Given the description of an element on the screen output the (x, y) to click on. 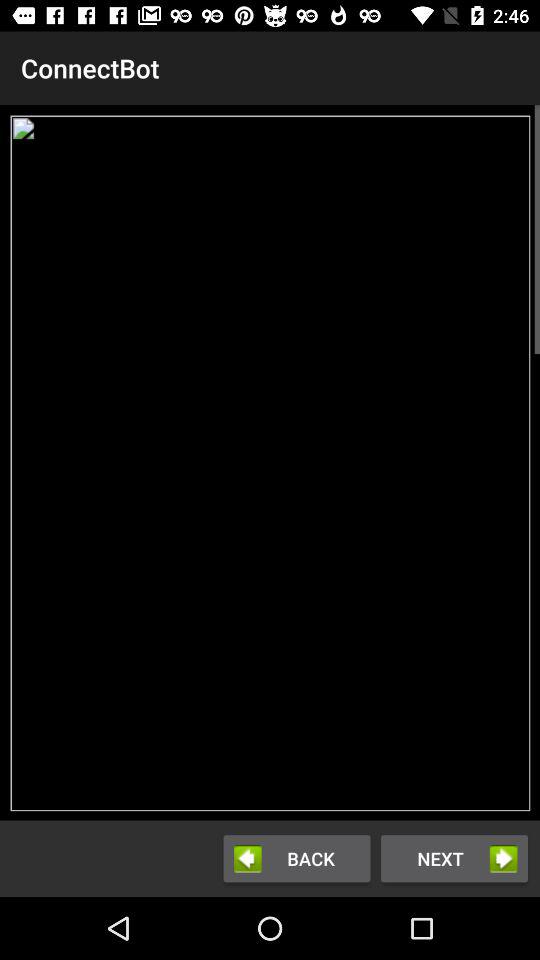
jump until next button (454, 858)
